Given the description of an element on the screen output the (x, y) to click on. 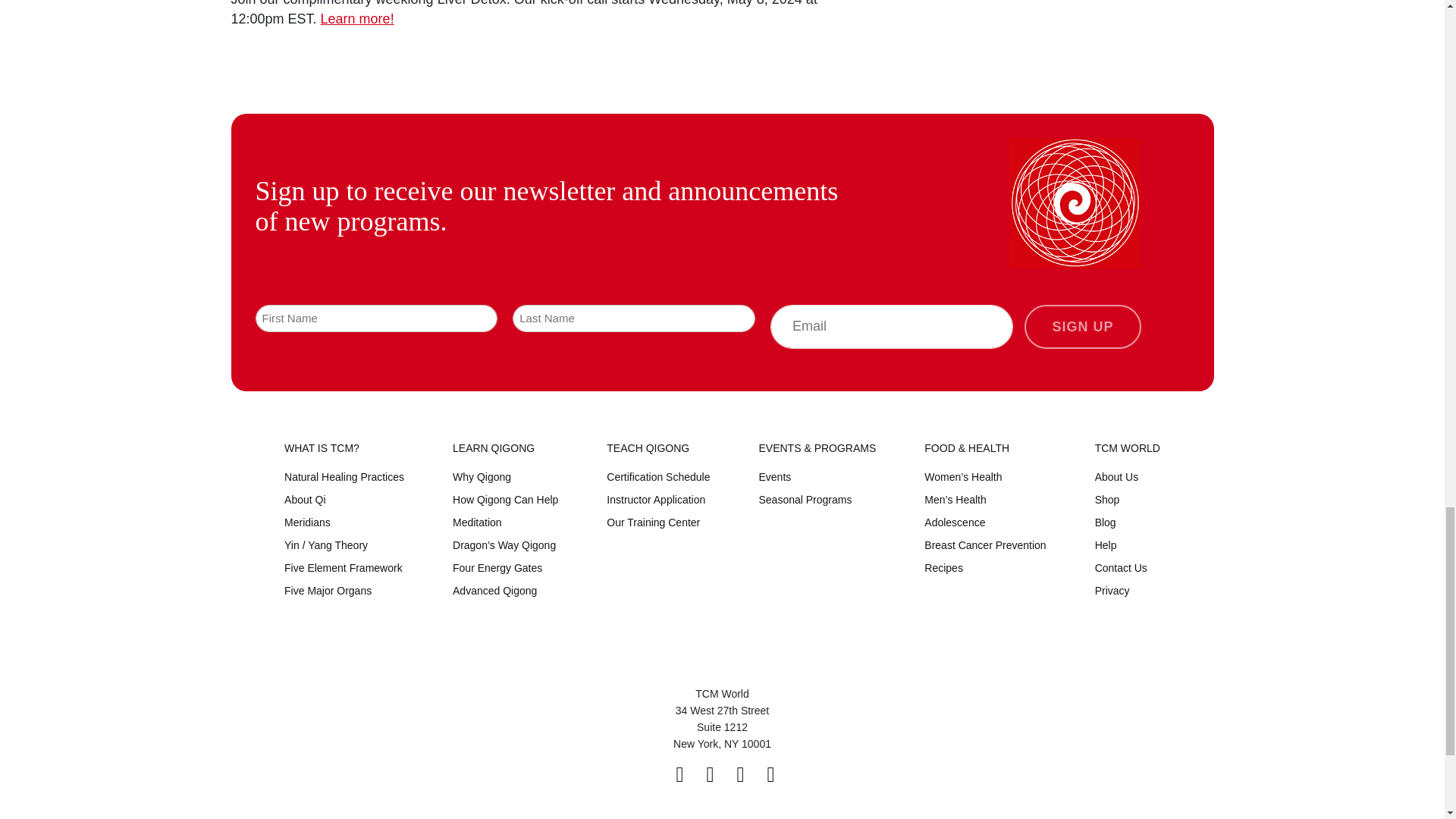
Sign up (1082, 326)
